Given the description of an element on the screen output the (x, y) to click on. 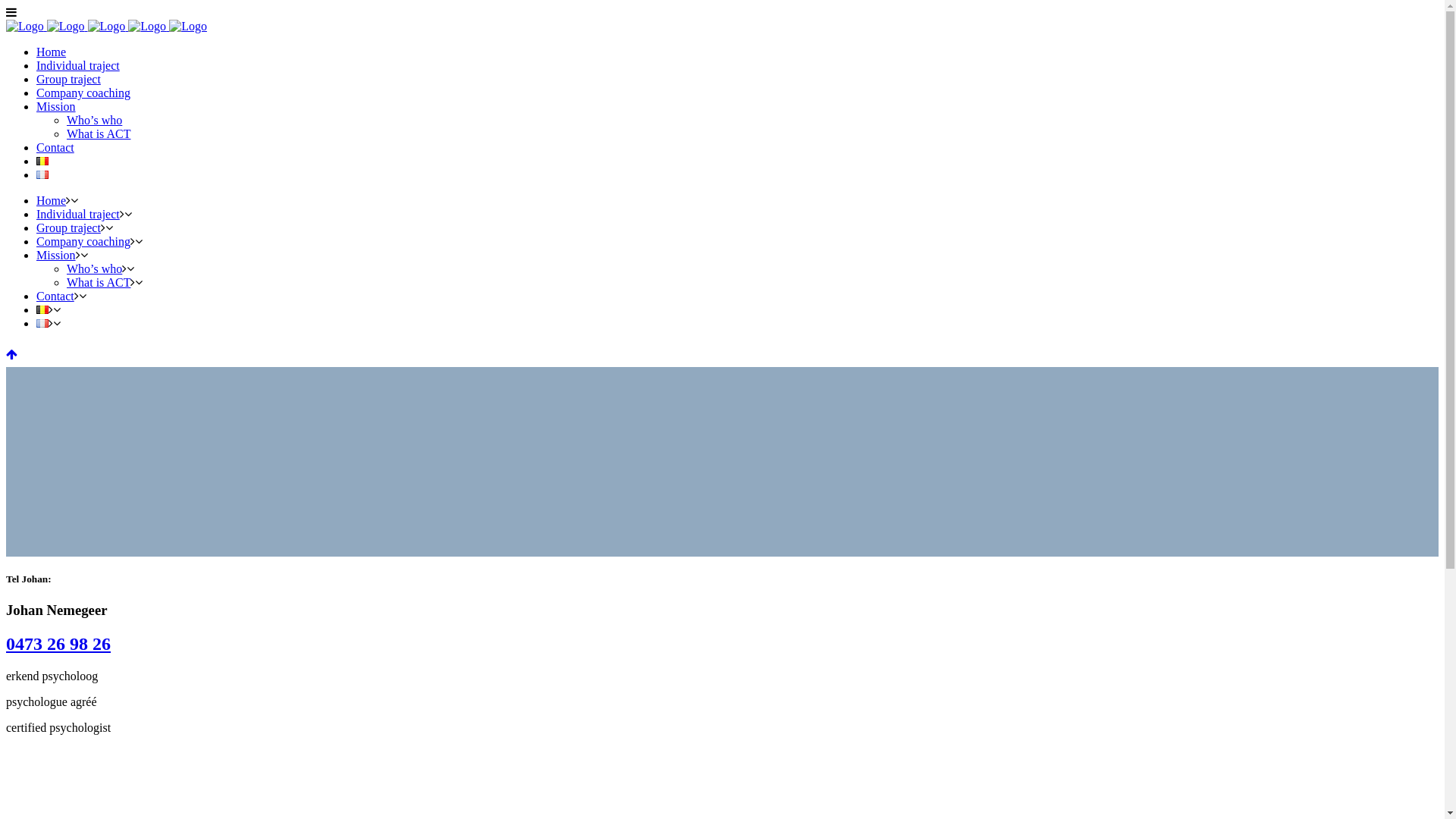
Company coaching Element type: text (83, 241)
What is ACT Element type: text (98, 282)
Individual traject Element type: text (77, 213)
Mission Element type: text (55, 254)
Group traject Element type: text (68, 78)
Individual traject Element type: text (77, 65)
Contact Element type: text (55, 147)
Group traject Element type: text (68, 227)
Contact Element type: text (55, 295)
Home Element type: text (50, 200)
Home Element type: text (50, 51)
Company coaching Element type: text (83, 92)
0473 26 98 26 Element type: text (58, 643)
What is ACT Element type: text (98, 133)
Mission Element type: text (55, 106)
